Given the description of an element on the screen output the (x, y) to click on. 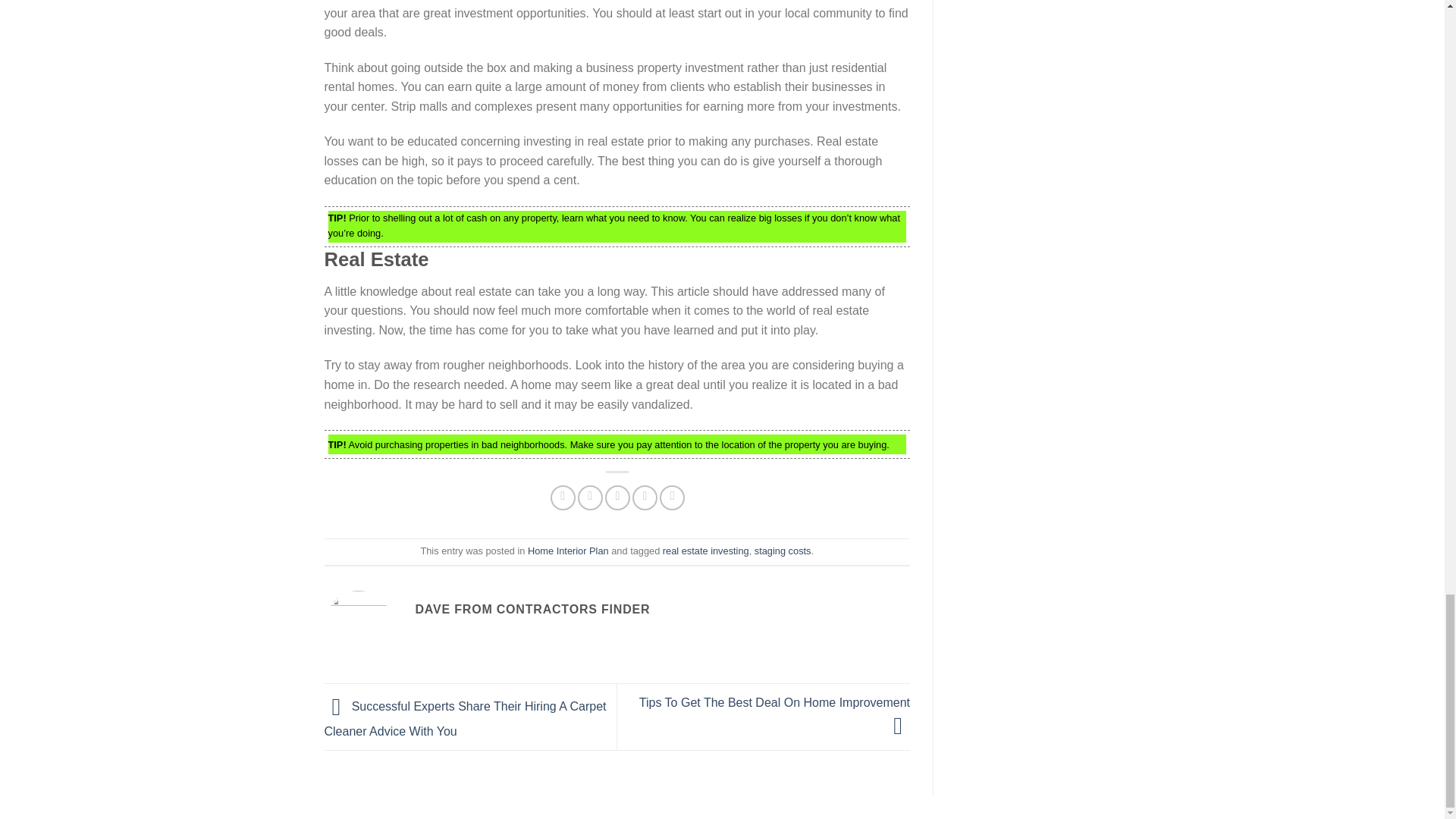
real estate investing (705, 550)
Email to a Friend (617, 497)
Pin on Pinterest (644, 497)
Share on Facebook (562, 497)
Home Interior Plan (567, 550)
Share on Twitter (590, 497)
Tips To Get The Best Deal On Home Improvement (774, 713)
staging costs (782, 550)
Share on LinkedIn (671, 497)
